Given the description of an element on the screen output the (x, y) to click on. 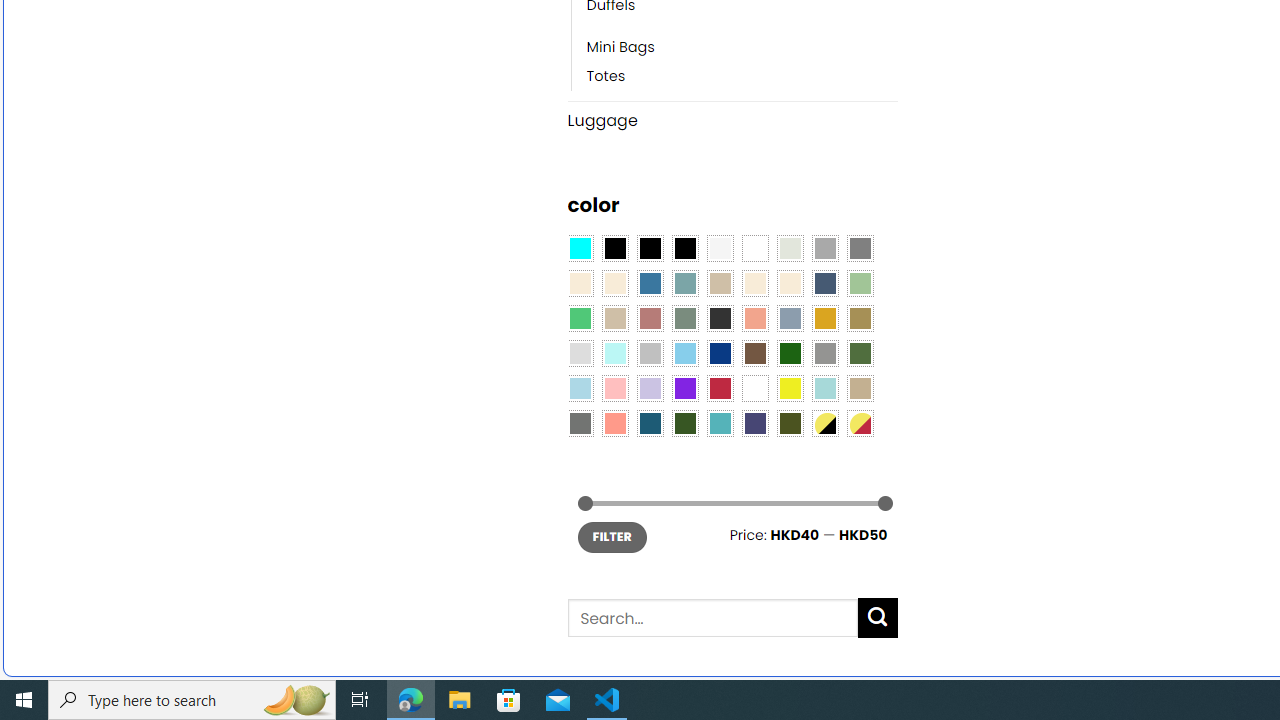
Emerald Green (579, 318)
Beige (579, 283)
FILTER (612, 536)
Dull Nickle (579, 424)
Sage (684, 318)
Aqua (824, 388)
Ash Gray (789, 249)
All Black (614, 249)
Totes (742, 76)
Aqua Blue (579, 249)
White (755, 388)
Mini Bags (742, 48)
Rose (650, 318)
Light Taupe (614, 318)
